Given the description of an element on the screen output the (x, y) to click on. 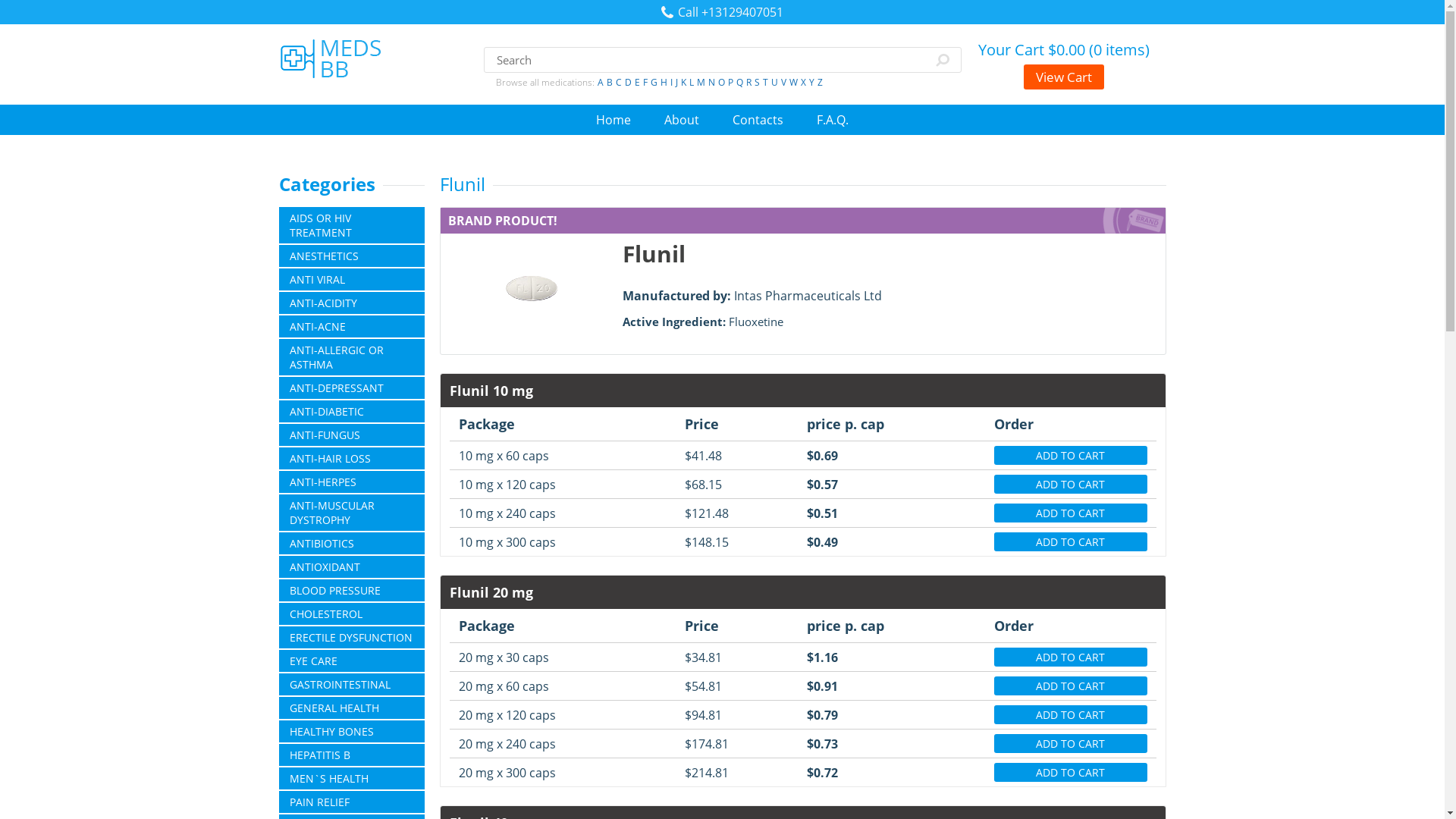
ANESTHETICS (352, 255)
AIDS OR HIV TREATMENT (352, 225)
Contacts (757, 119)
About (680, 119)
View Cart (1063, 76)
Home (612, 119)
ANTI VIRAL (352, 279)
ANTI-ACIDITY (352, 302)
F.A.Q. (832, 119)
